Given the description of an element on the screen output the (x, y) to click on. 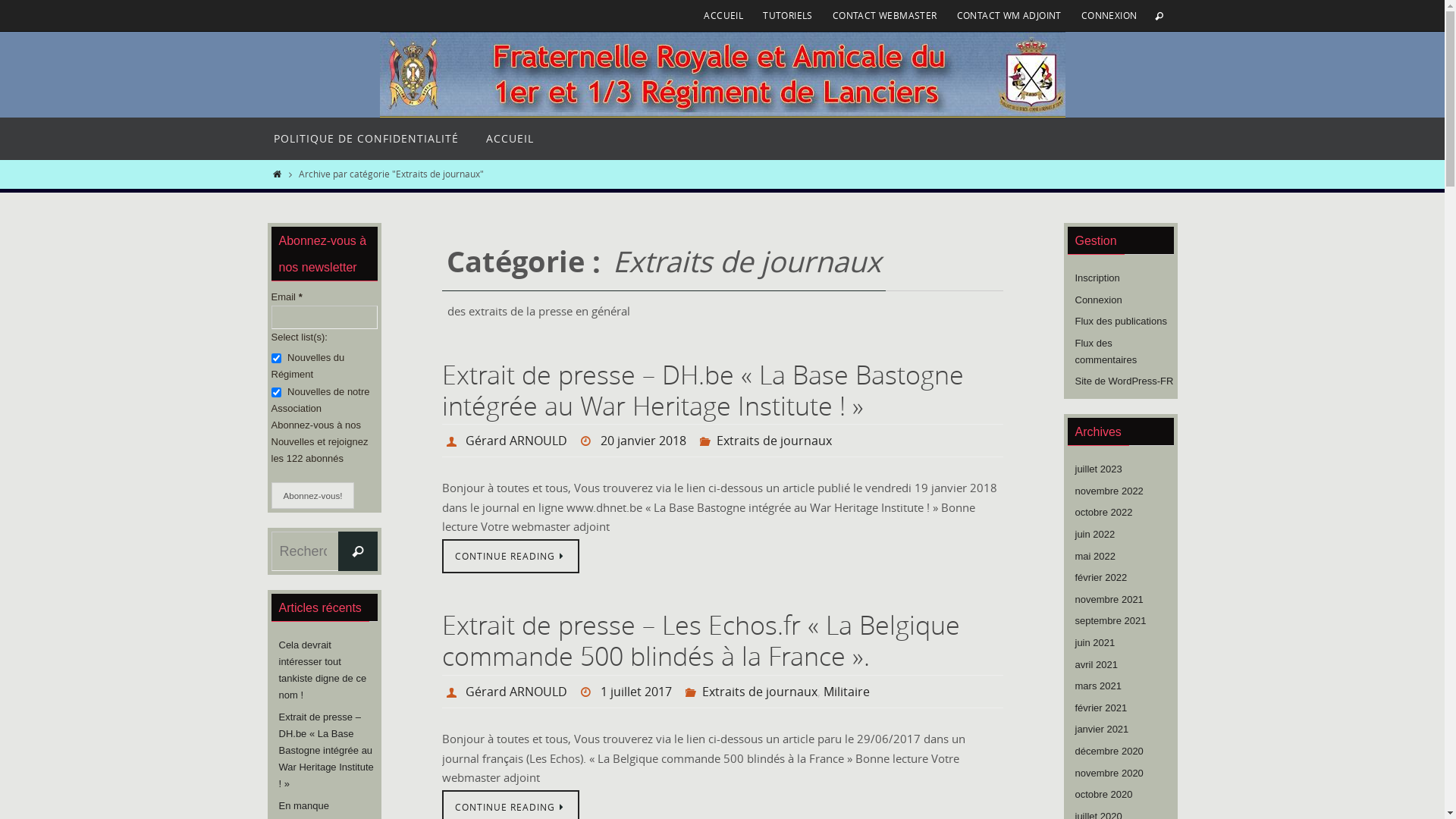
mars 2021 Element type: text (1098, 686)
Home Element type: text (277, 173)
Connexion Element type: text (1098, 300)
CONTINUE READING Element type: text (510, 556)
juin 2021 Element type: text (1095, 643)
Auteur Element type: hover (453, 691)
octobre 2020 Element type: text (1103, 794)
juillet 2023 Element type: text (1098, 469)
Flux des publications Element type: text (1121, 321)
juin 2022 Element type: text (1095, 534)
Militaire Element type: text (846, 691)
CONTACT WM ADJOINT Element type: text (1009, 15)
Auteur Element type: hover (453, 440)
octobre 2022 Element type: text (1103, 512)
Extraits de journaux Element type: text (759, 691)
Inscription Element type: text (1097, 278)
CONNEXION Element type: text (1109, 15)
septembre 2021 Element type: text (1110, 621)
1 juillet 2017 Element type: text (635, 691)
novembre 2021 Element type: text (1109, 599)
ACCUEIL Element type: text (723, 15)
mai 2022 Element type: text (1095, 556)
Abonnez-vous! Element type: text (312, 495)
Date Element type: hover (587, 440)
20 janvier 2018 Element type: text (643, 440)
avril 2021 Element type: text (1096, 664)
novembre 2020 Element type: text (1109, 773)
Fraternelle Royale et Amicale du 1er et 1/3 Lanciers Element type: hover (721, 74)
janvier 2021 Element type: text (1102, 729)
Flux des commentaires Element type: text (1106, 351)
novembre 2022 Element type: text (1109, 491)
ACCUEIL Element type: text (508, 138)
TUTORIELS Element type: text (787, 15)
Email Element type: hover (324, 317)
Recherche Element type: text (357, 551)
Site de WordPress-FR Element type: text (1124, 381)
CONTACT WEBMASTER Element type: text (884, 15)
Extraits de journaux Element type: text (773, 440)
Date Element type: hover (587, 691)
